Given the description of an element on the screen output the (x, y) to click on. 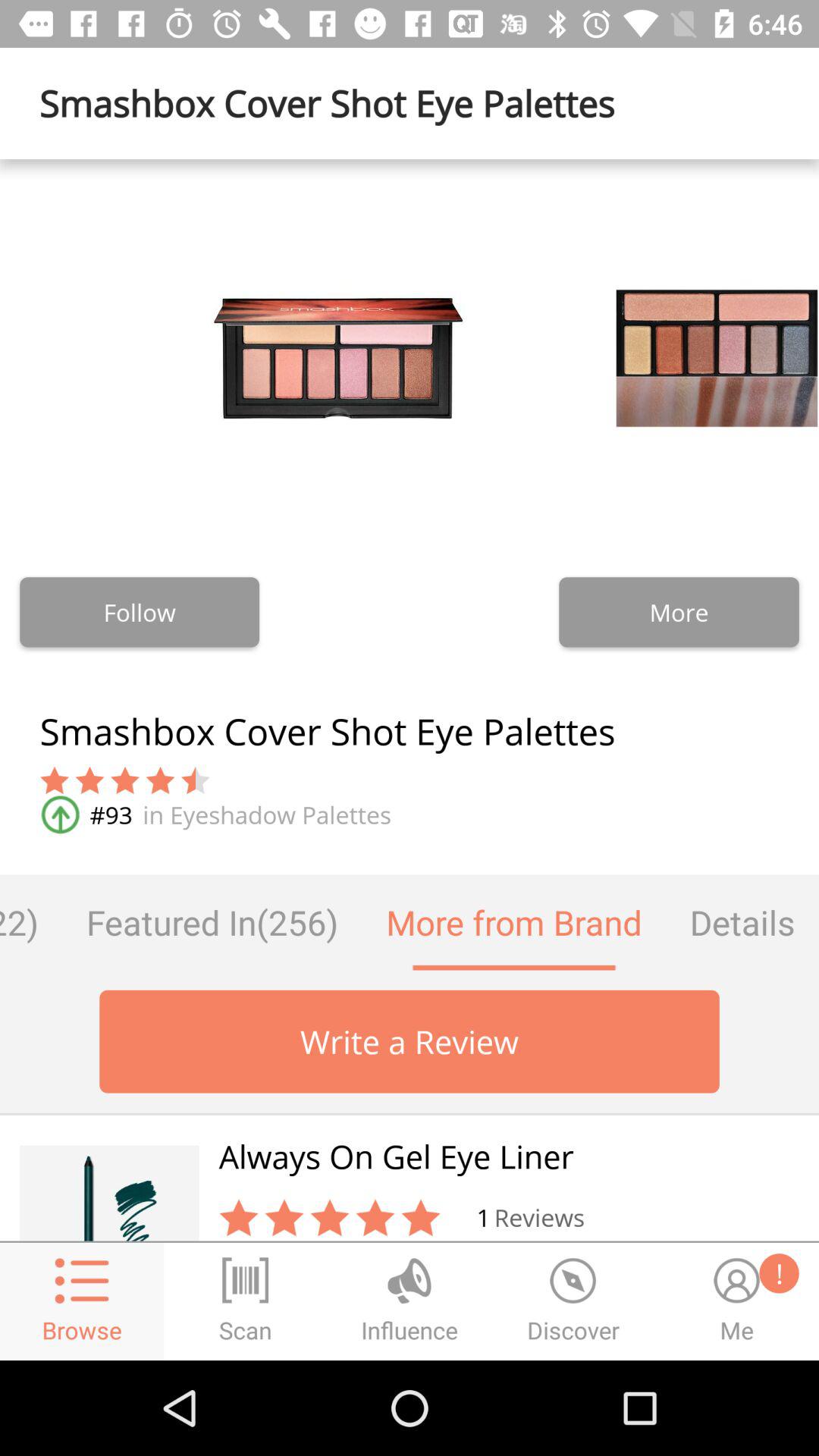
turn off the featured in(256) item (212, 922)
